Given the description of an element on the screen output the (x, y) to click on. 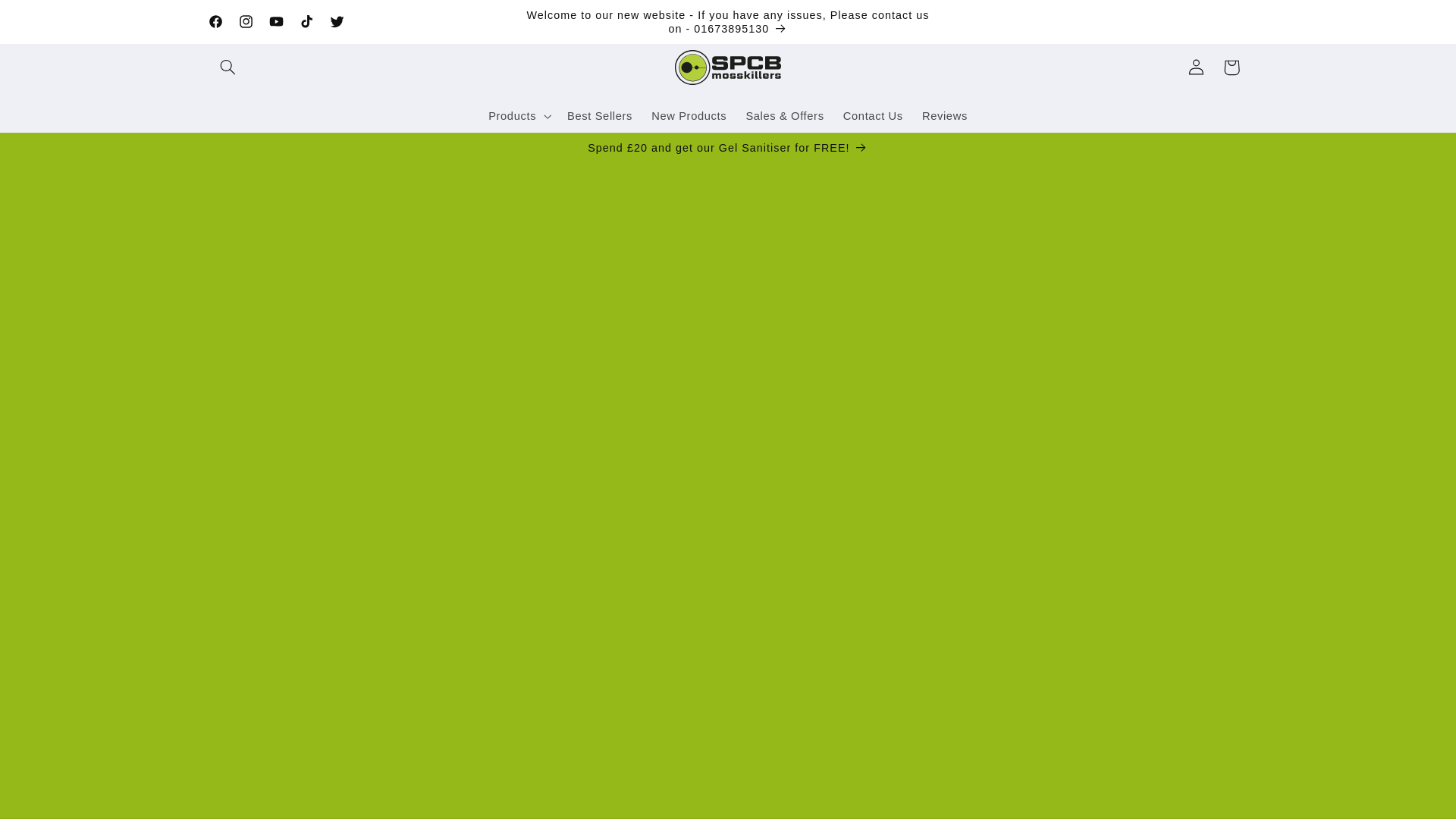
Instagram (246, 21)
TikTok (306, 21)
YouTube (277, 21)
Facebook (215, 21)
Twitter (336, 21)
Skip to content (48, 18)
